Given the description of an element on the screen output the (x, y) to click on. 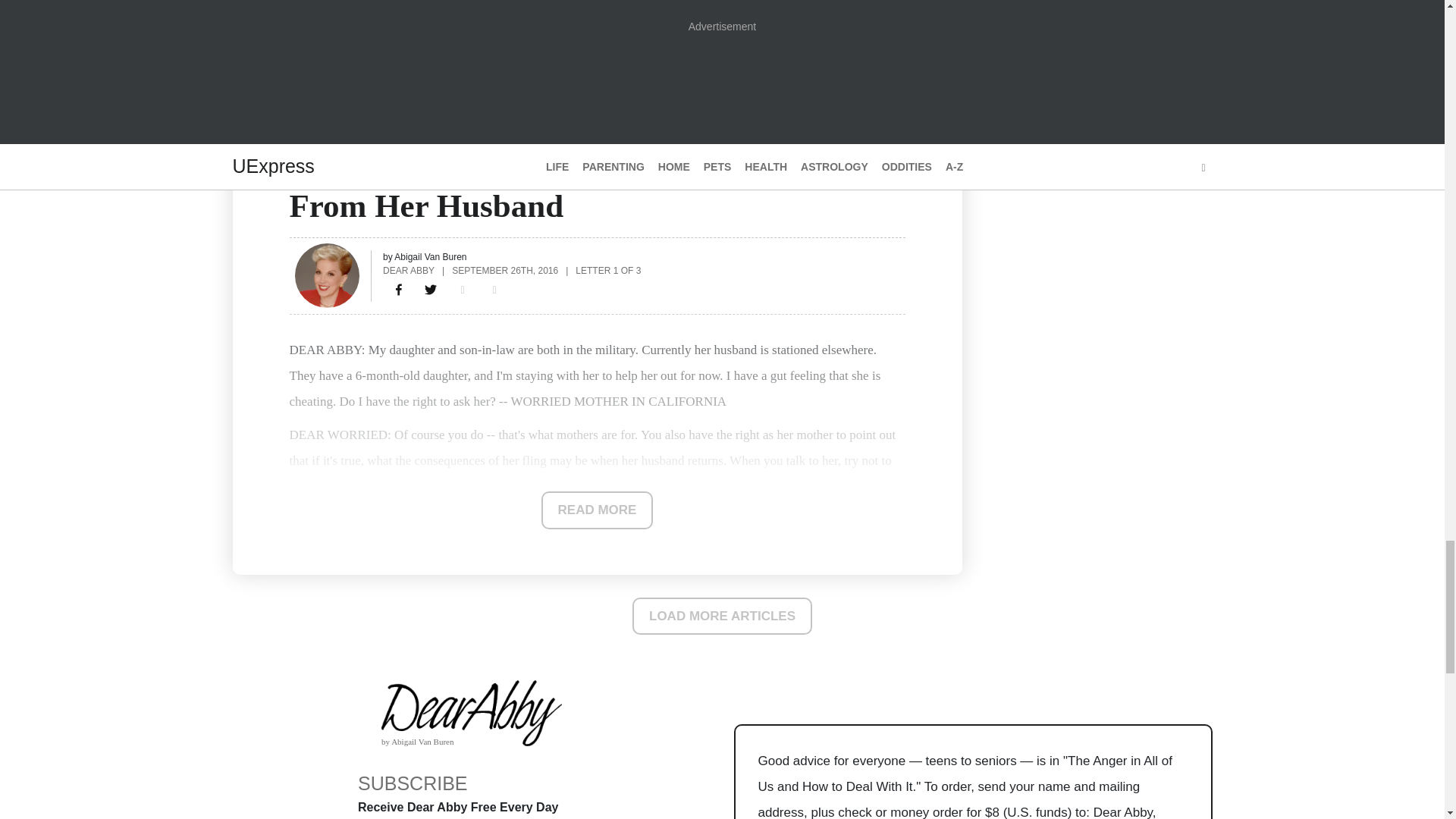
Mom Suspects Military Wife Is Retreating From Her Husband (398, 289)
